Given the description of an element on the screen output the (x, y) to click on. 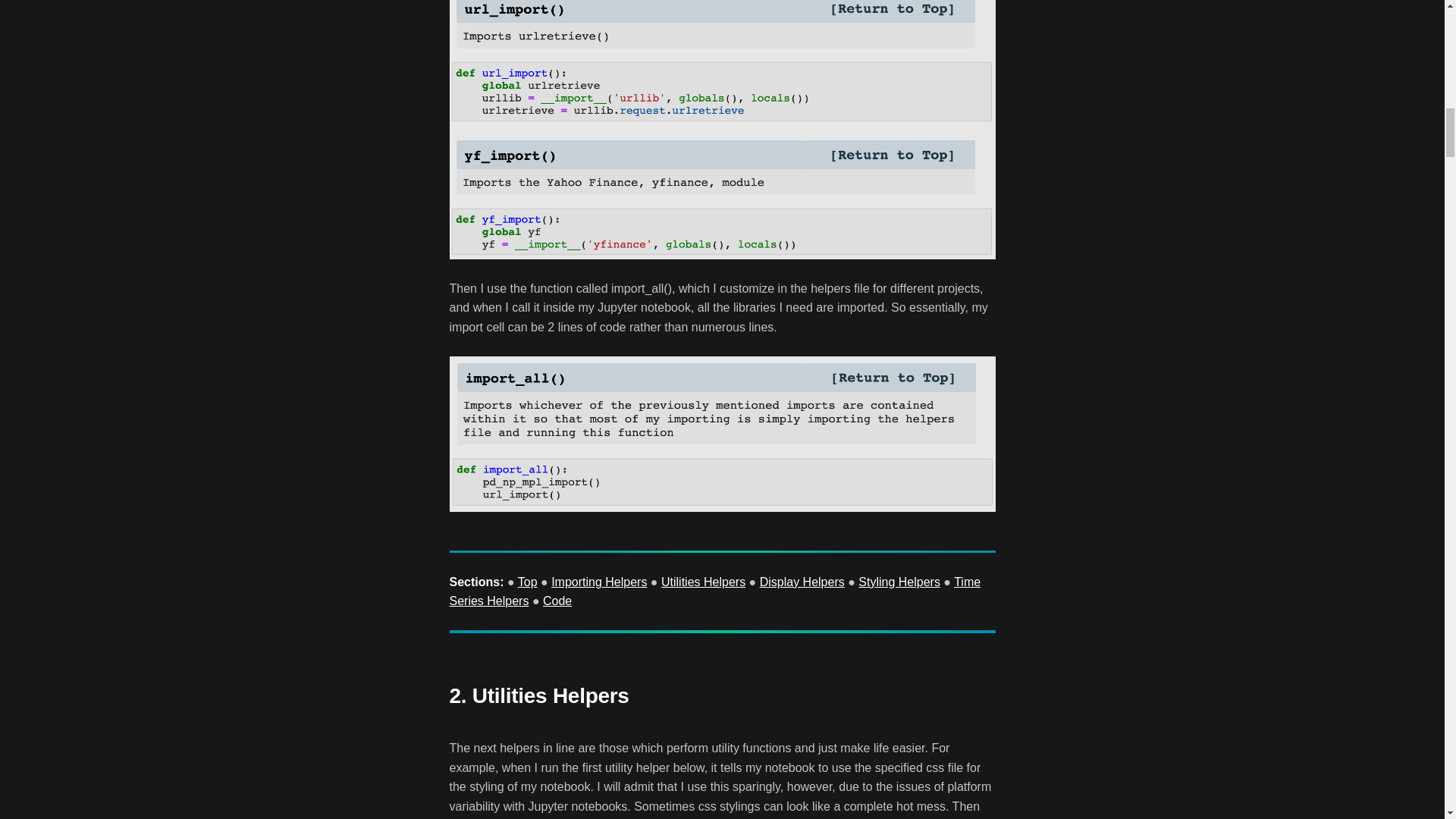
Top (527, 581)
Importing Helpers (598, 581)
Utilities Helpers (703, 581)
